Given the description of an element on the screen output the (x, y) to click on. 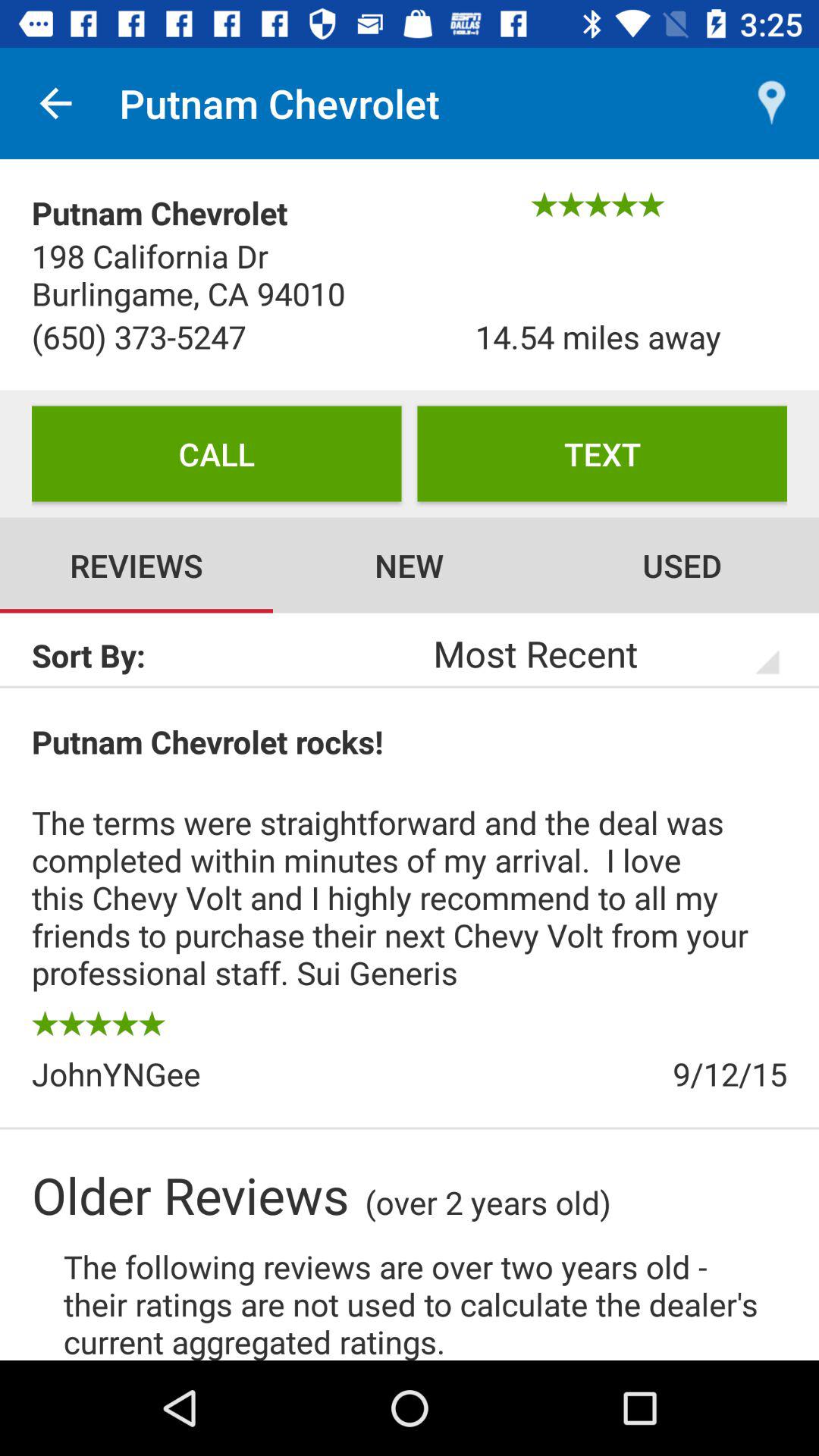
turn on the the following reviews (425, 1302)
